Given the description of an element on the screen output the (x, y) to click on. 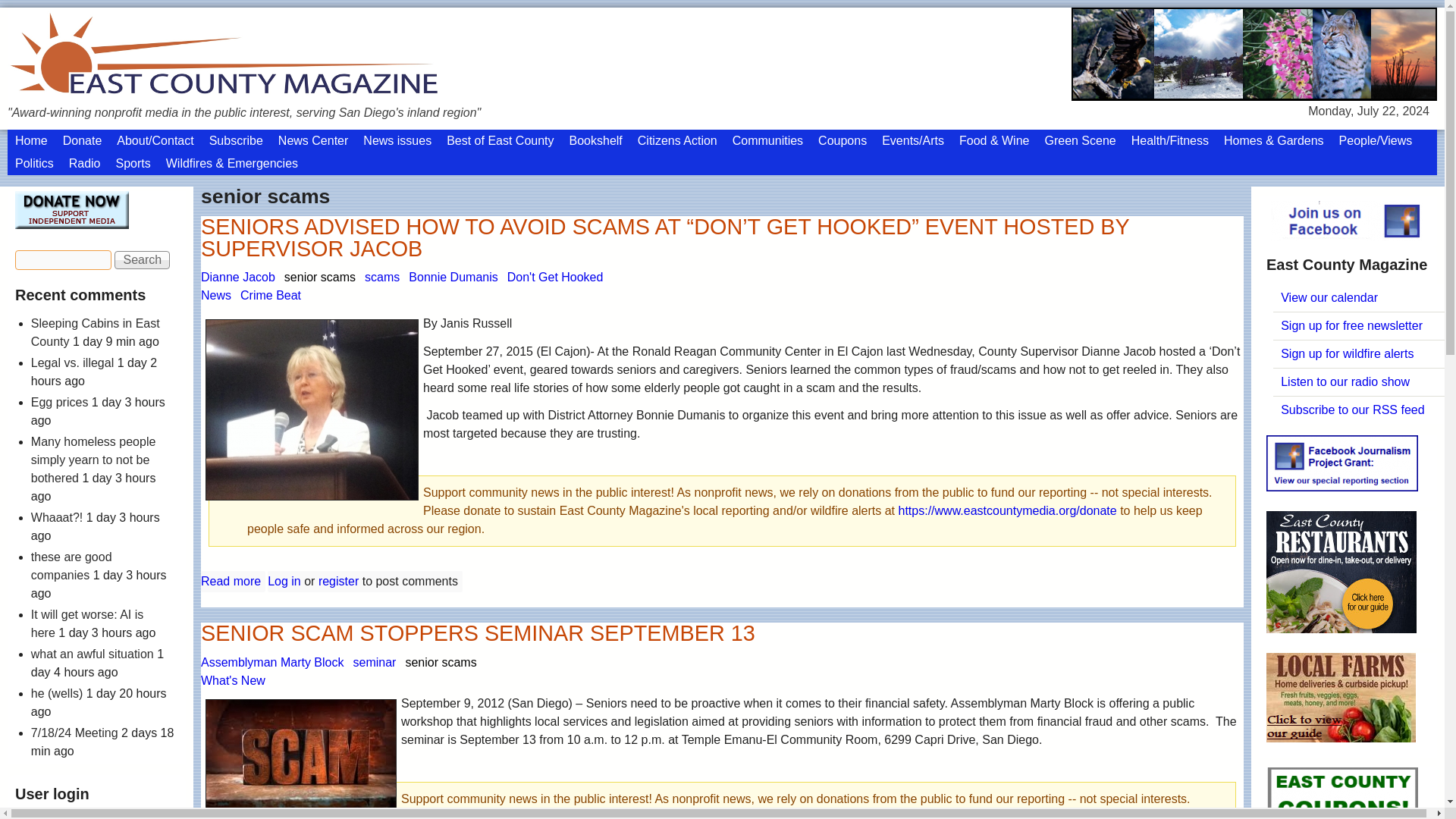
Search (142, 259)
News issues (397, 140)
News Center (312, 140)
Donate (82, 140)
Best of East County (499, 140)
Home (31, 140)
Subscribe (236, 140)
